Given the description of an element on the screen output the (x, y) to click on. 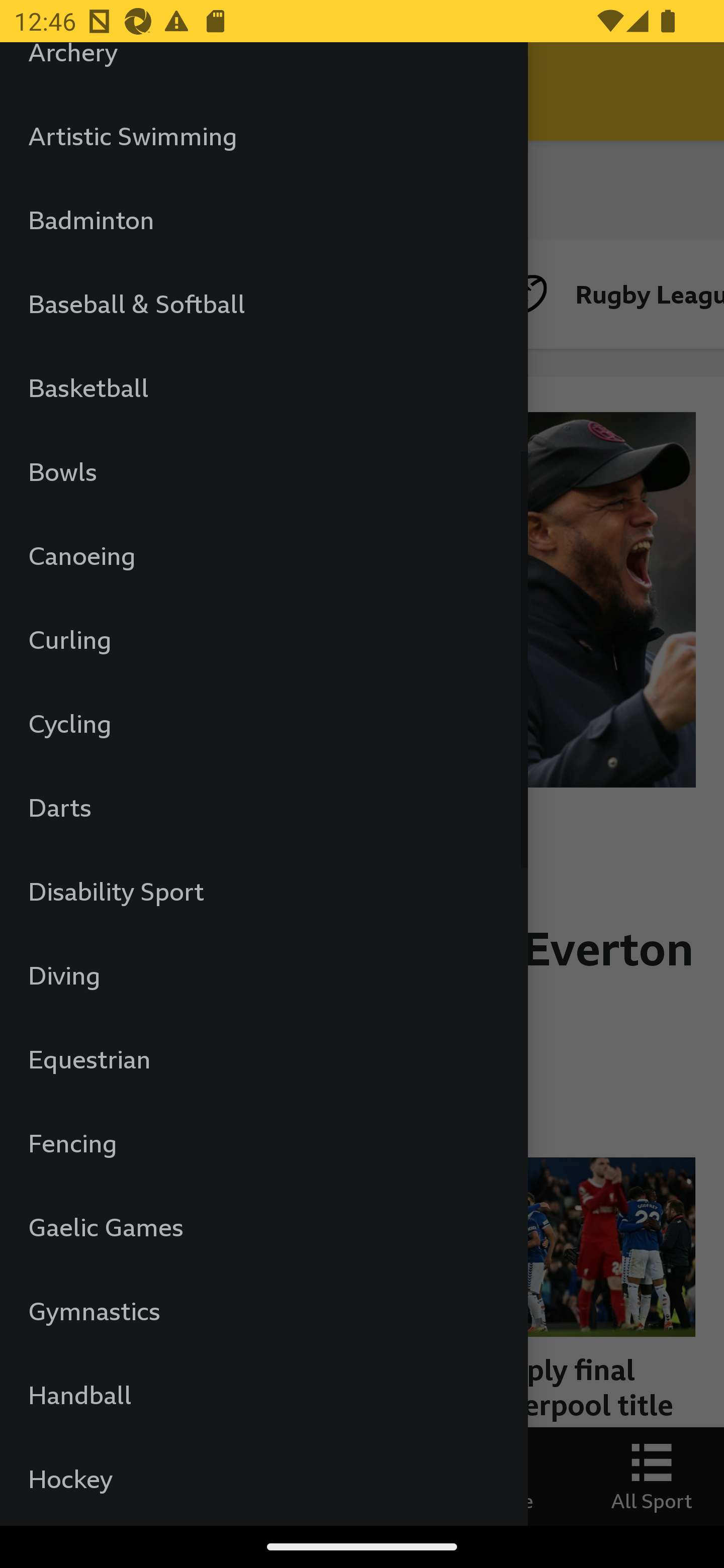
Archery (263, 68)
Artistic Swimming (263, 135)
Badminton (263, 219)
Baseball & Softball (263, 303)
Basketball (263, 386)
Bowls (263, 471)
Canoeing (263, 554)
Curling (263, 639)
Cycling (263, 722)
Darts (263, 807)
Disability Sport (263, 890)
Diving (263, 974)
Equestrian (263, 1058)
Fencing (263, 1142)
Gaelic Games (263, 1225)
Gymnastics (263, 1310)
Handball (263, 1393)
Hockey (263, 1478)
